Given the description of an element on the screen output the (x, y) to click on. 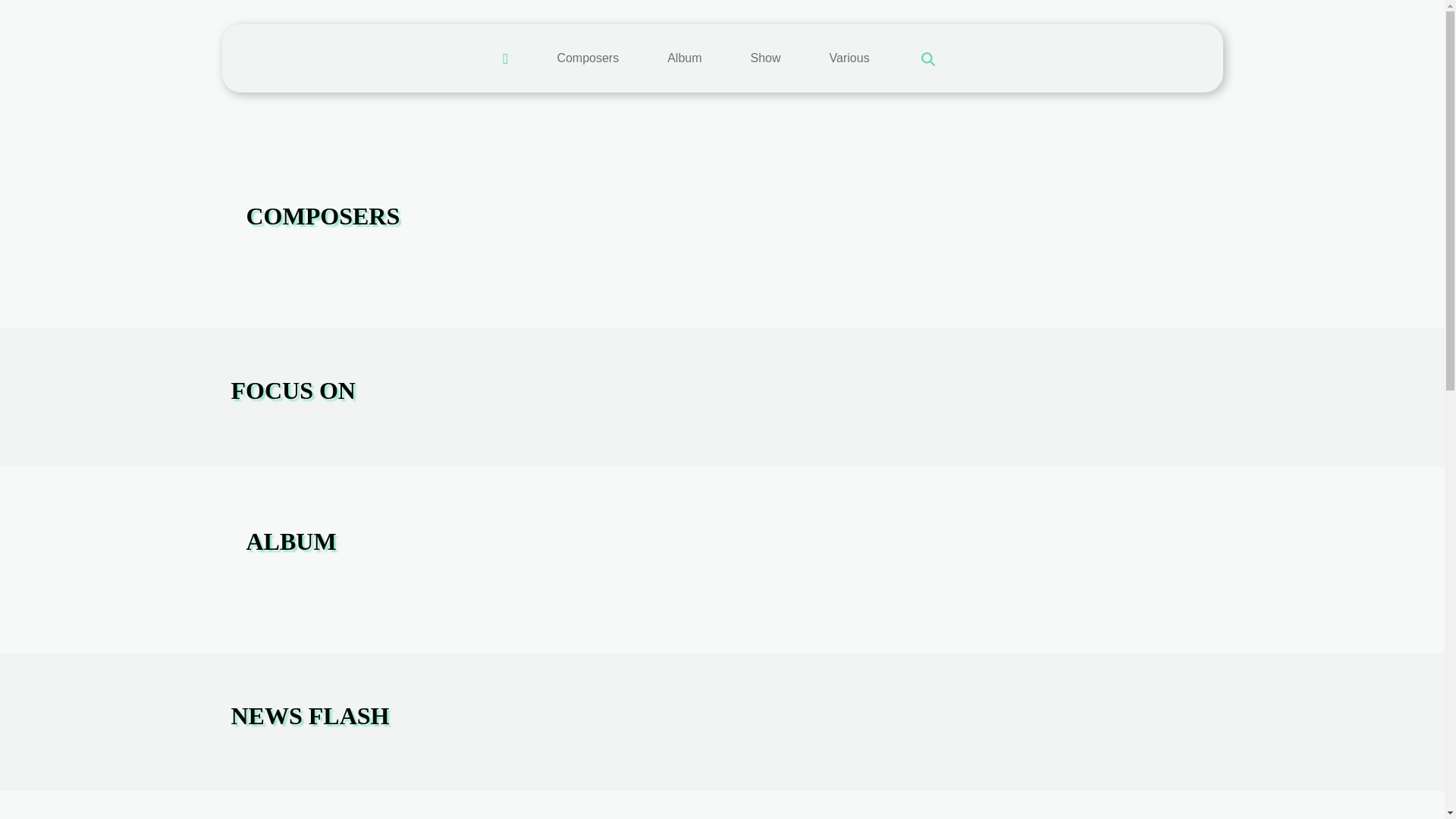
Composers (587, 58)
Album (684, 58)
Various (850, 58)
Show (765, 58)
